Given the description of an element on the screen output the (x, y) to click on. 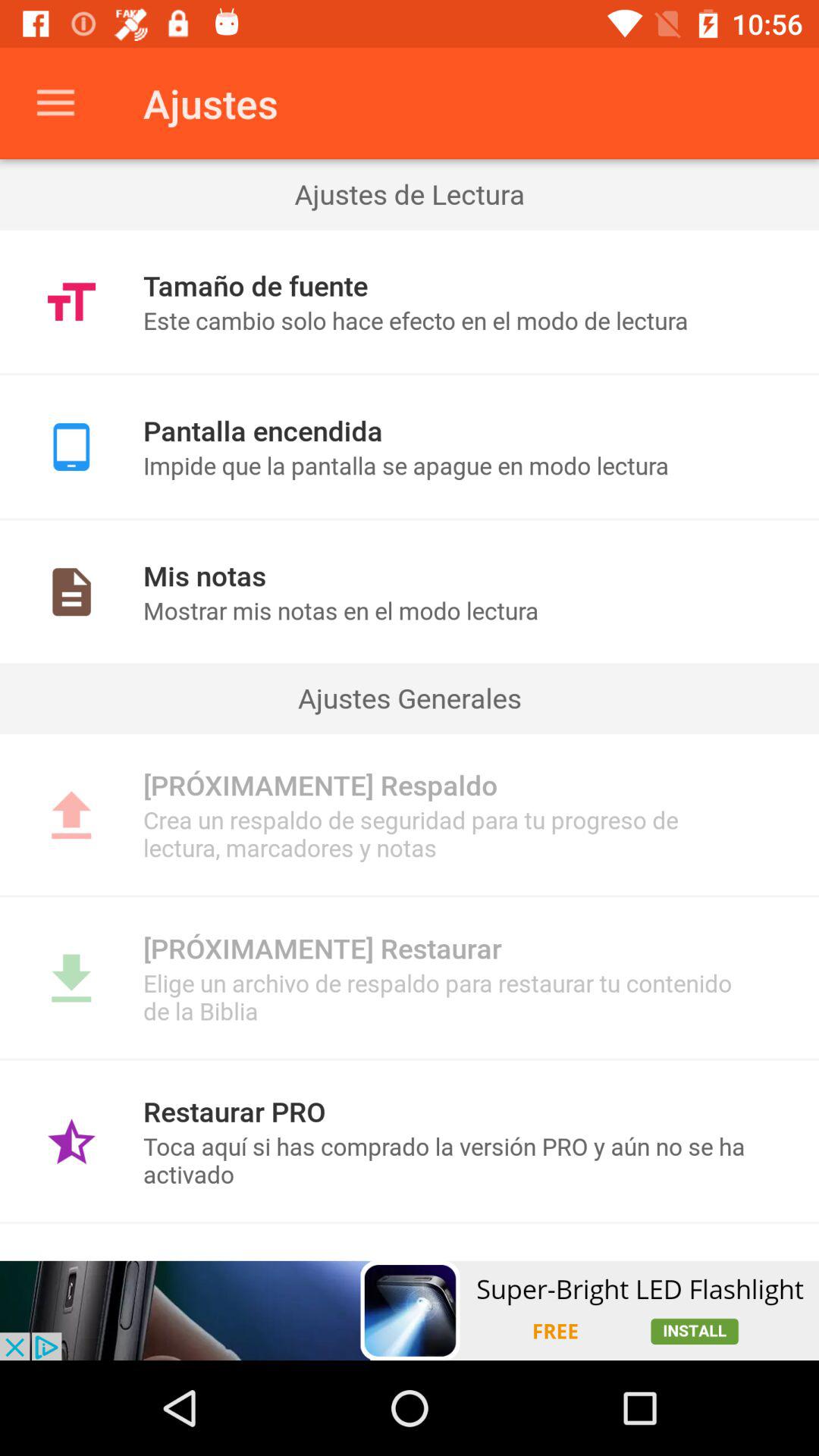
launch item below ajustes generales item (409, 732)
